Given the description of an element on the screen output the (x, y) to click on. 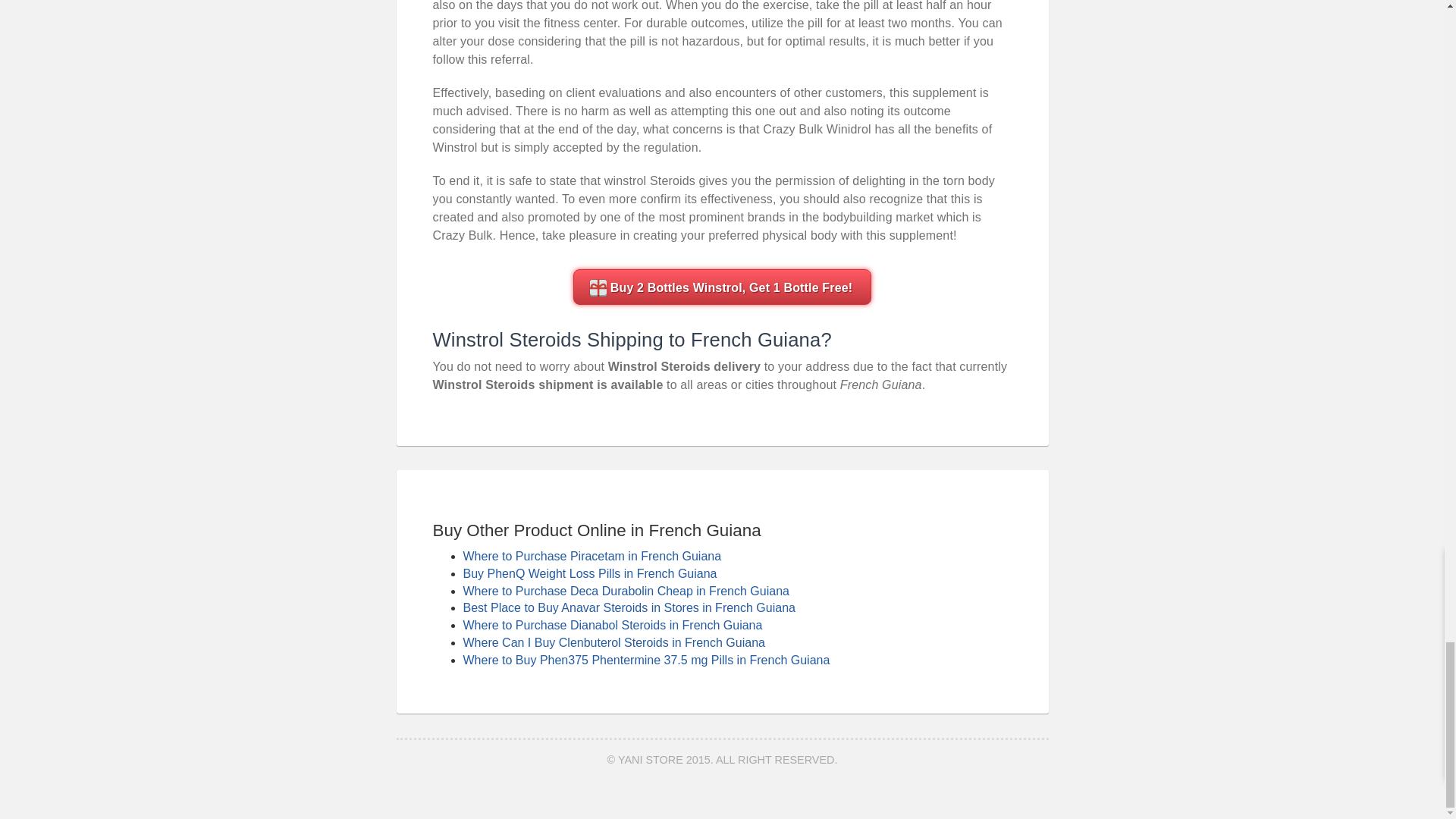
Where to Purchase Piracetam in French Guiana (591, 555)
Where to Purchase Deca Durabolin Cheap in French Guiana (626, 590)
Where to Purchase Piracetam in French Guiana (591, 555)
Buy PhenQ Weight Loss Pills in French Guiana (589, 573)
Where to Purchase Dianabol Steroids in French Guiana (612, 625)
Where Can I Buy Clenbuterol Steroids in French Guiana (613, 642)
Best Place to Buy Anavar Steroids in Stores in French Guiana (628, 607)
Best Place to Buy Anavar Steroids in Stores in French Guiana (628, 607)
